Given the description of an element on the screen output the (x, y) to click on. 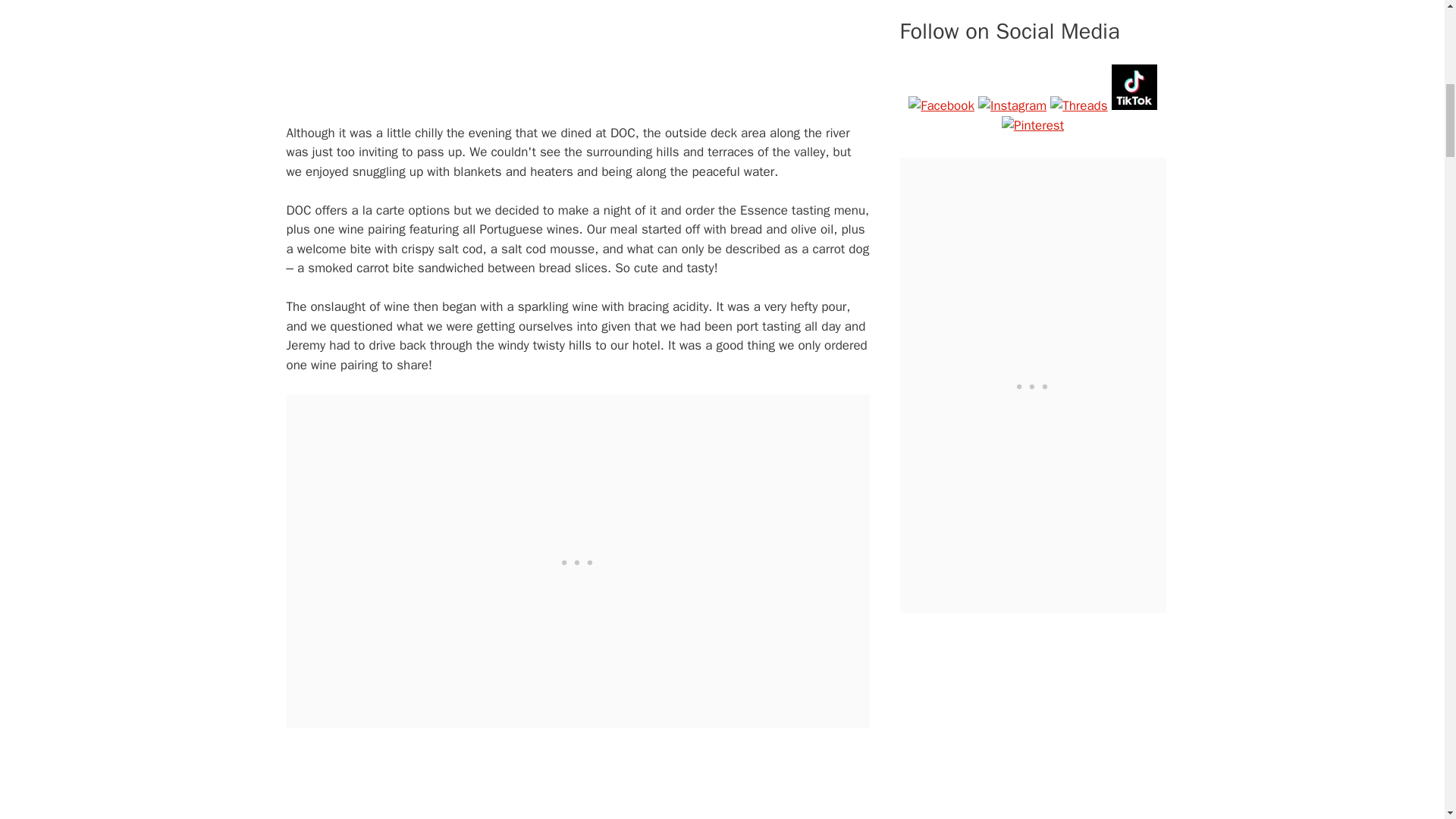
Welcome Bites at DOC in the Douro (577, 52)
Instagram (1012, 106)
TikTok (1134, 86)
Threads (1077, 106)
Facebook (941, 106)
Pinterest (1032, 125)
Burrata with Fig Jam at Doc (577, 777)
